Given the description of an element on the screen output the (x, y) to click on. 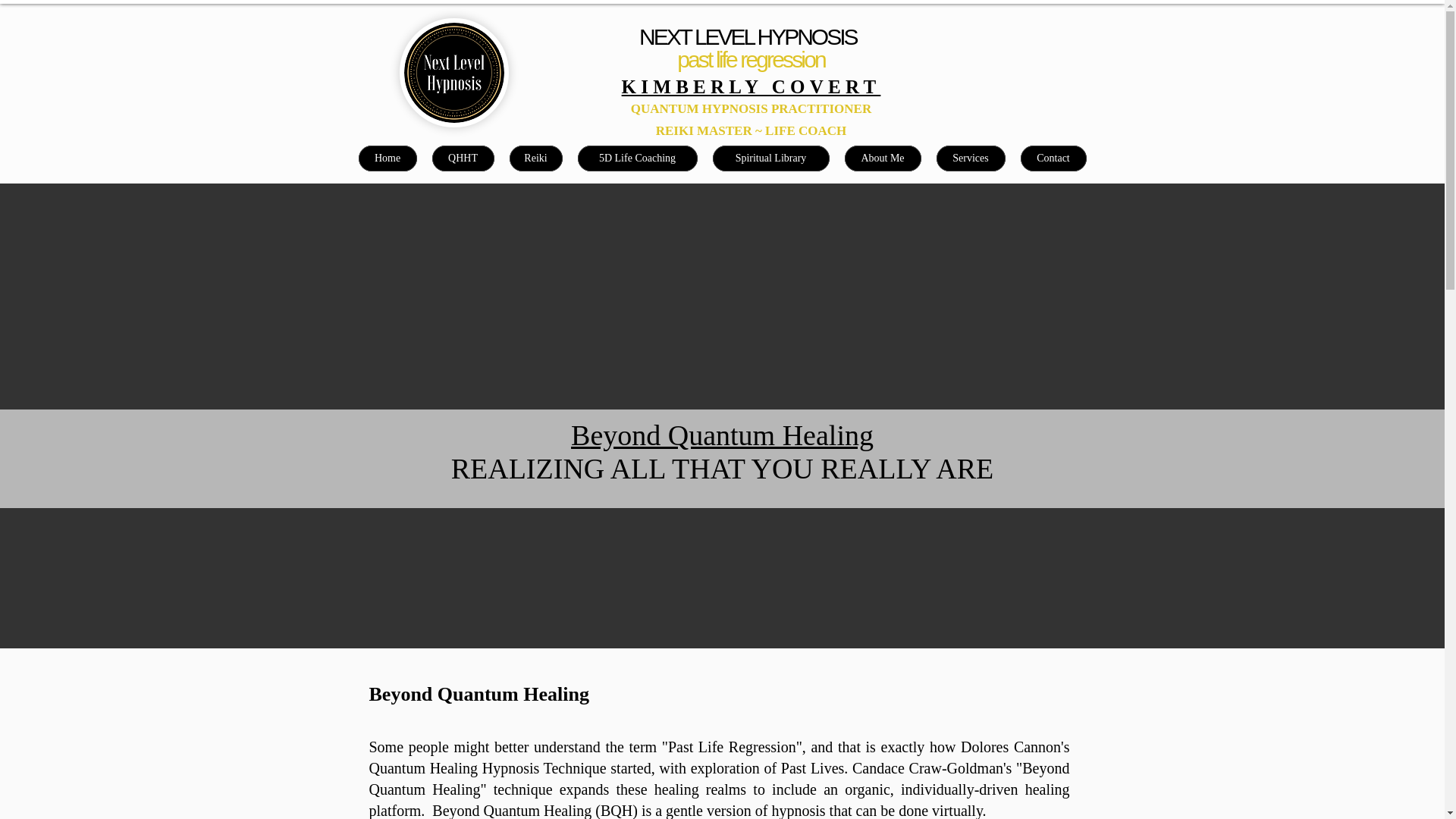
Contact (1053, 158)
Home (387, 158)
QHHT (463, 158)
Reiki (535, 158)
About Me (882, 158)
5D Life Coaching (637, 158)
Services (970, 158)
Spiritual Library (771, 158)
